Given the description of an element on the screen output the (x, y) to click on. 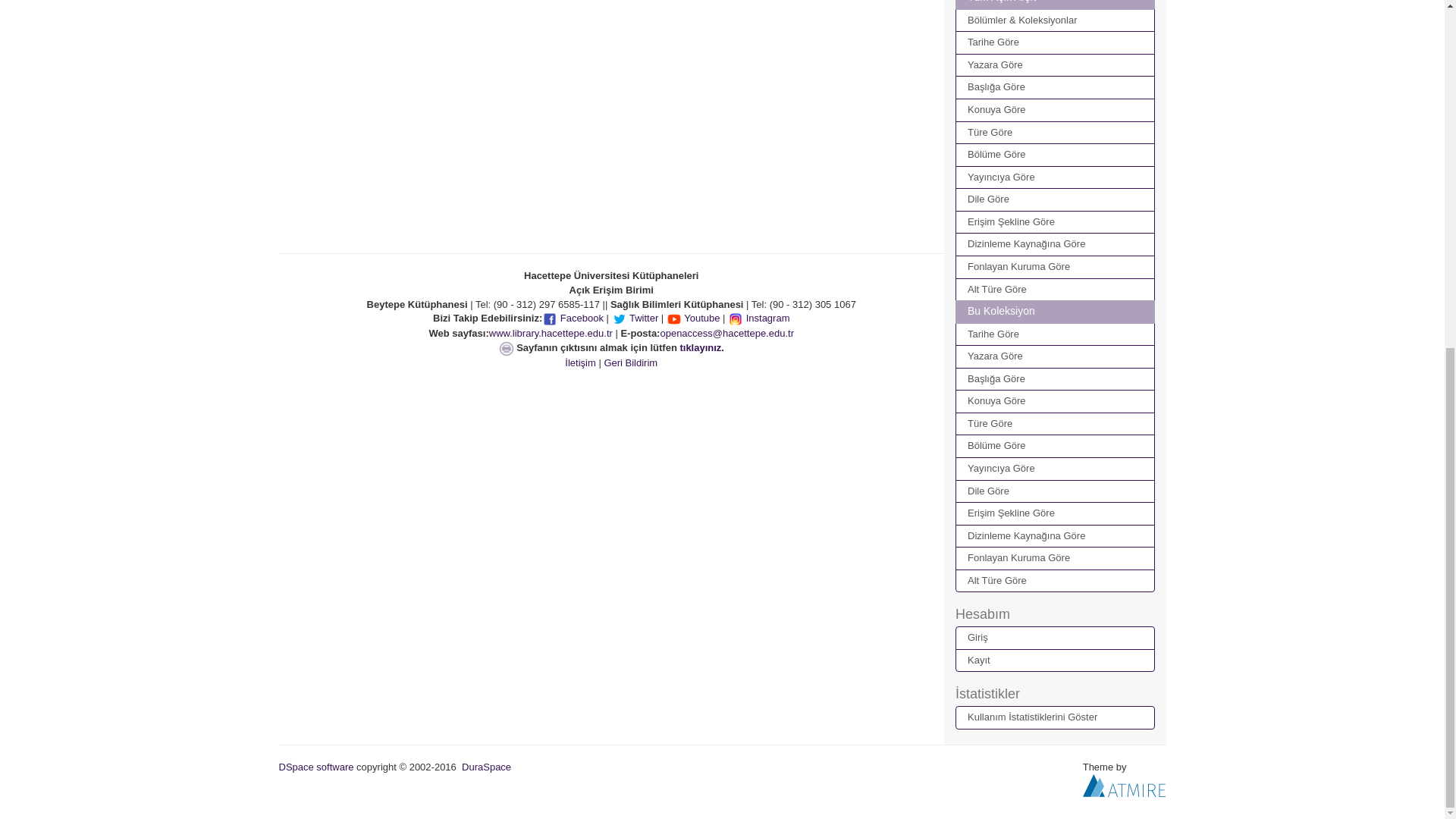
Geri Bildirim (631, 362)
Facebook (572, 317)
www.library.hacettepe.edu.tr (550, 333)
Instagram (758, 317)
Twitter (635, 317)
Youtube (693, 317)
Atmire NV (1124, 785)
